Given the description of an element on the screen output the (x, y) to click on. 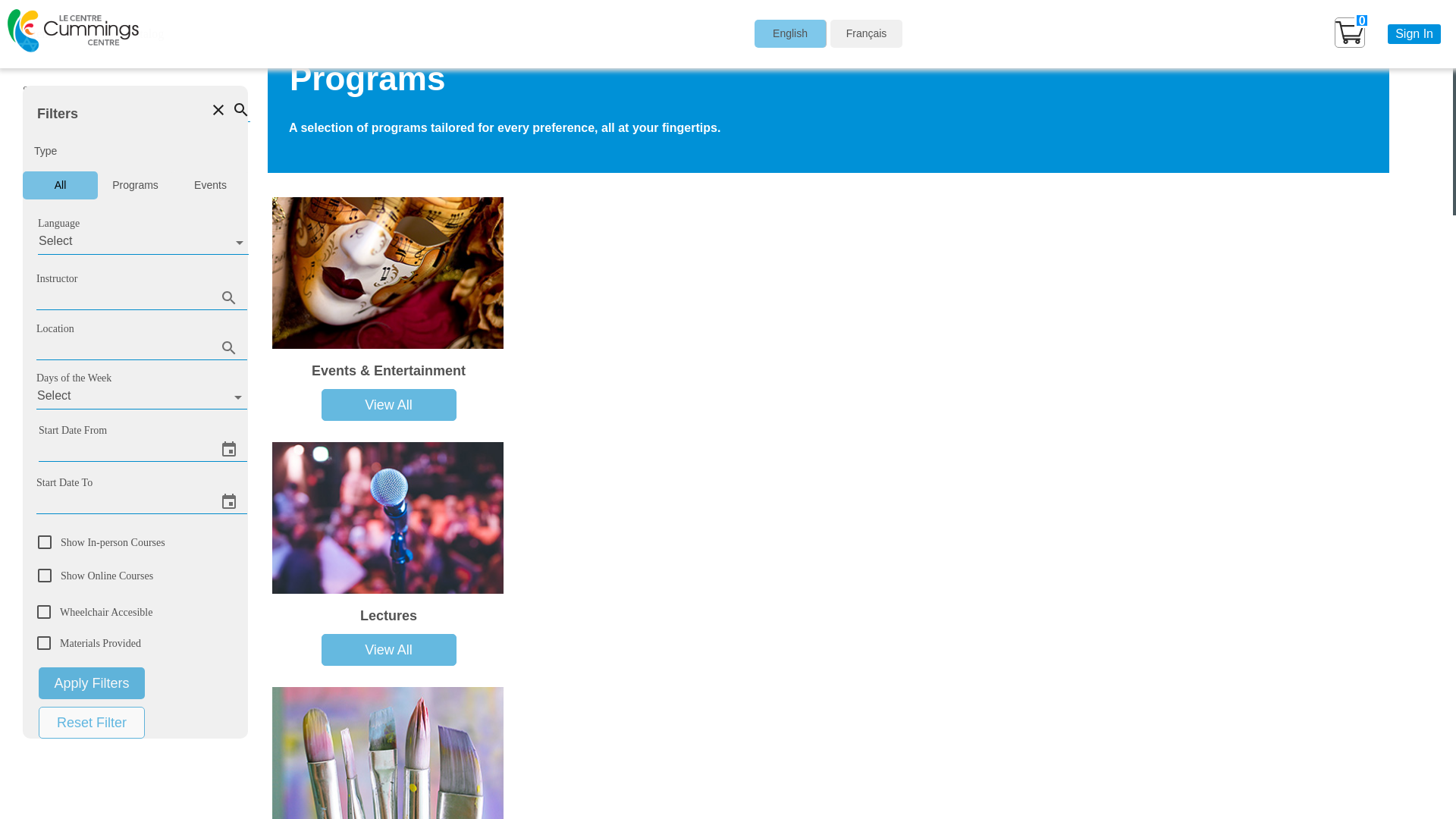
0 (1350, 33)
Filters (135, 109)
Programs (135, 185)
Apply Filters (91, 683)
0 (1361, 33)
Sign In (1414, 34)
Lectures (388, 615)
